Given the description of an element on the screen output the (x, y) to click on. 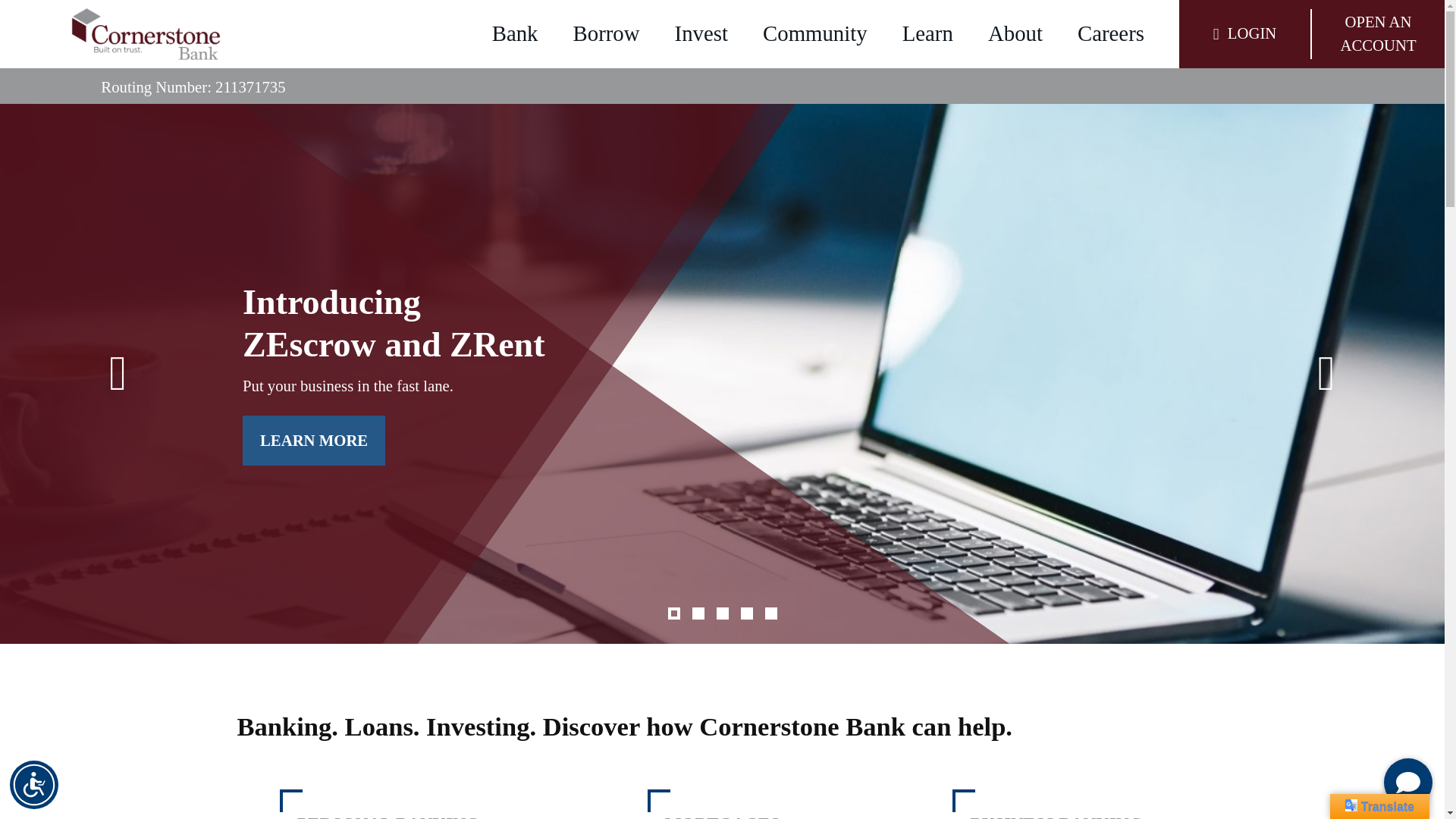
Accessibility Menu (34, 784)
Bank (515, 33)
Borrow (607, 33)
